Given the description of an element on the screen output the (x, y) to click on. 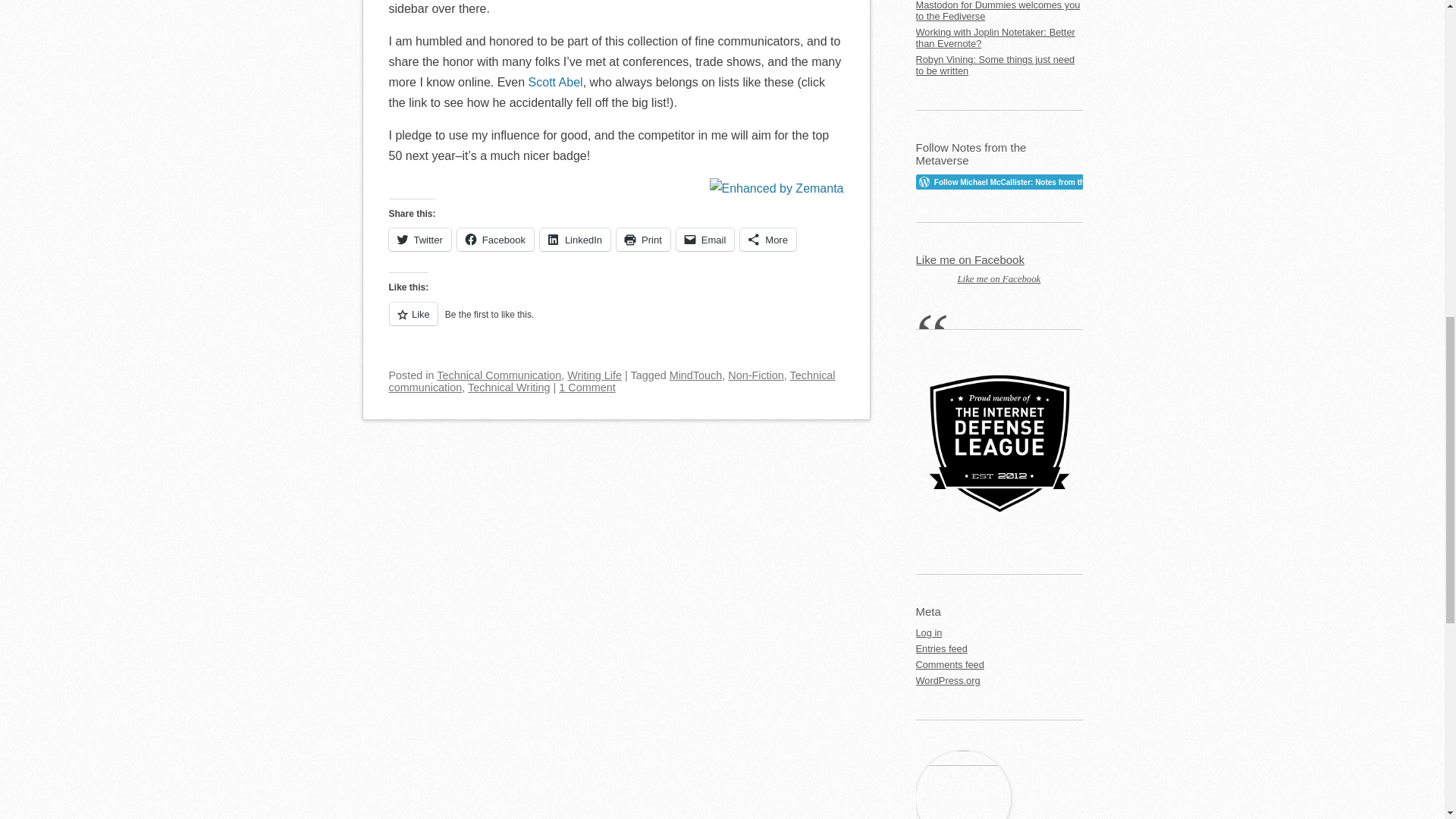
Facebook (495, 239)
Writing Life (594, 375)
Scott Abel (555, 82)
Click to share on LinkedIn (575, 239)
Technical communication (611, 381)
Print (642, 239)
Technical Writing (508, 387)
Click to print (642, 239)
More (767, 239)
Twitter (418, 239)
LinkedIn (575, 239)
Email (706, 239)
Click to share on Twitter (418, 239)
MindTouch (695, 375)
Scott Abel (555, 82)
